Given the description of an element on the screen output the (x, y) to click on. 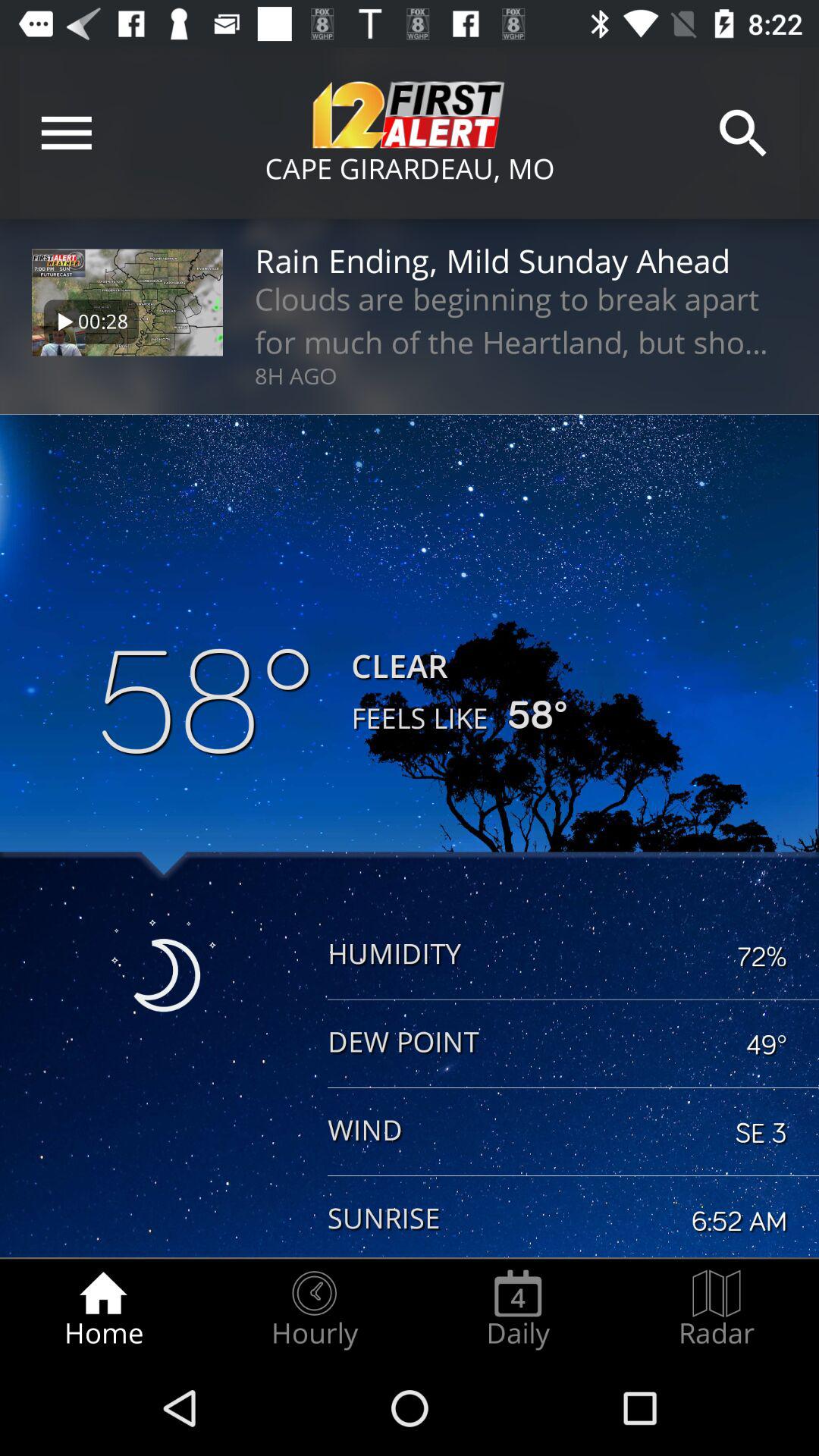
press item next to daily item (314, 1309)
